Given the description of an element on the screen output the (x, y) to click on. 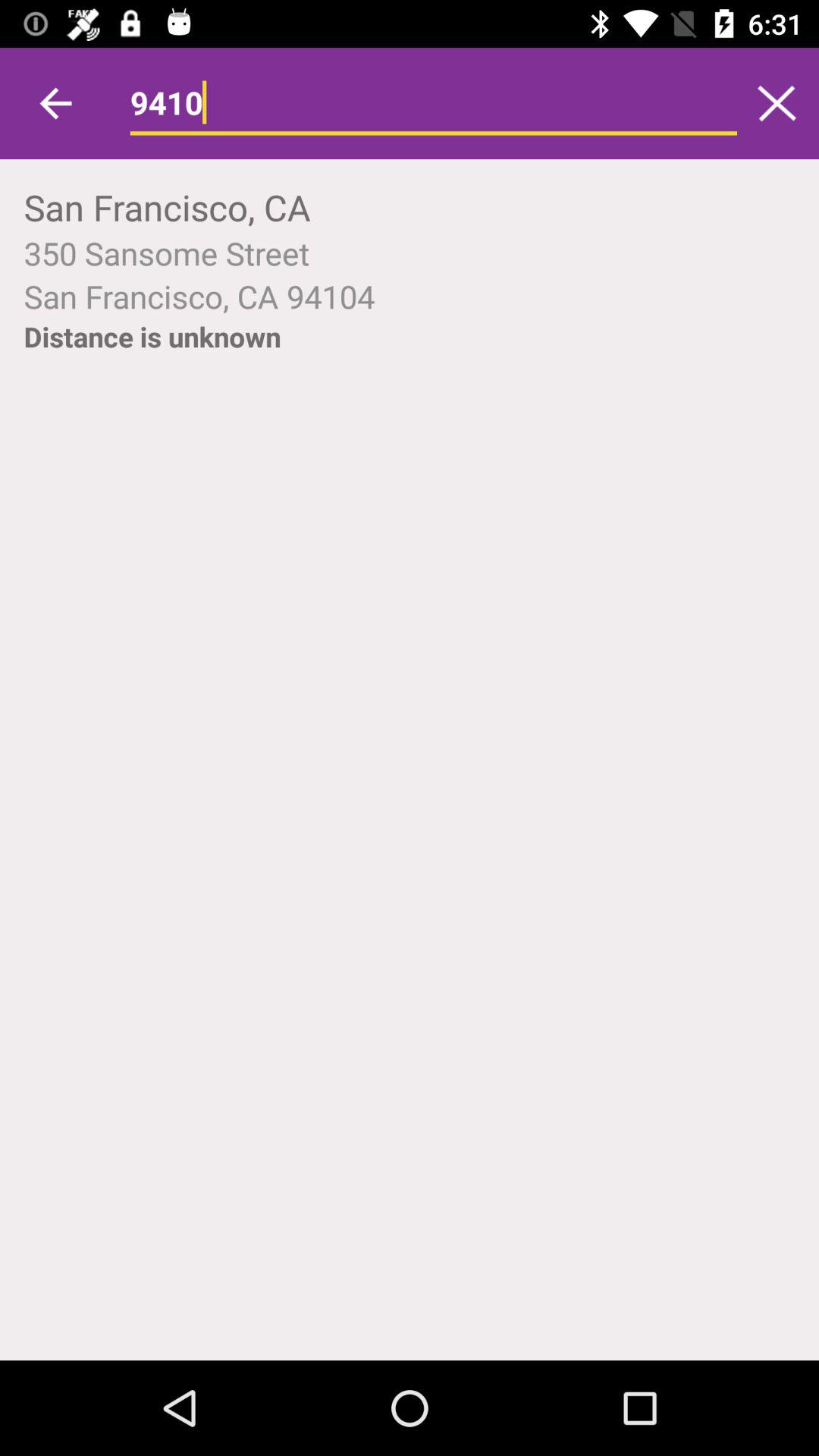
launch the icon above san francisco, ca icon (776, 103)
